Given the description of an element on the screen output the (x, y) to click on. 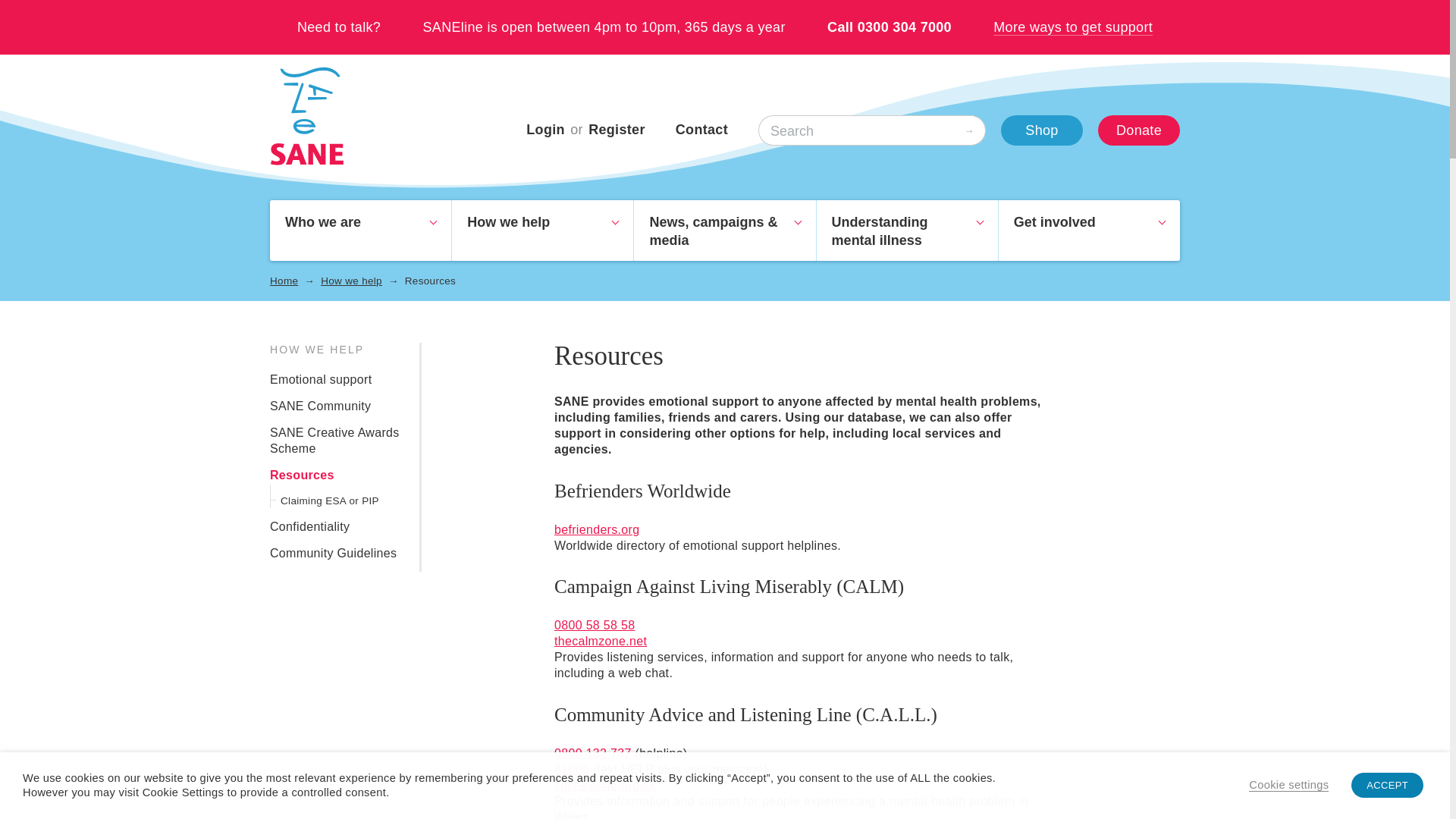
More ways to get support (1072, 27)
Login (544, 129)
Who we are (360, 230)
Contact (701, 129)
Register (616, 129)
How we help (542, 230)
Donate (1138, 130)
Understanding mental illness (906, 230)
Shop (1042, 130)
